Given the description of an element on the screen output the (x, y) to click on. 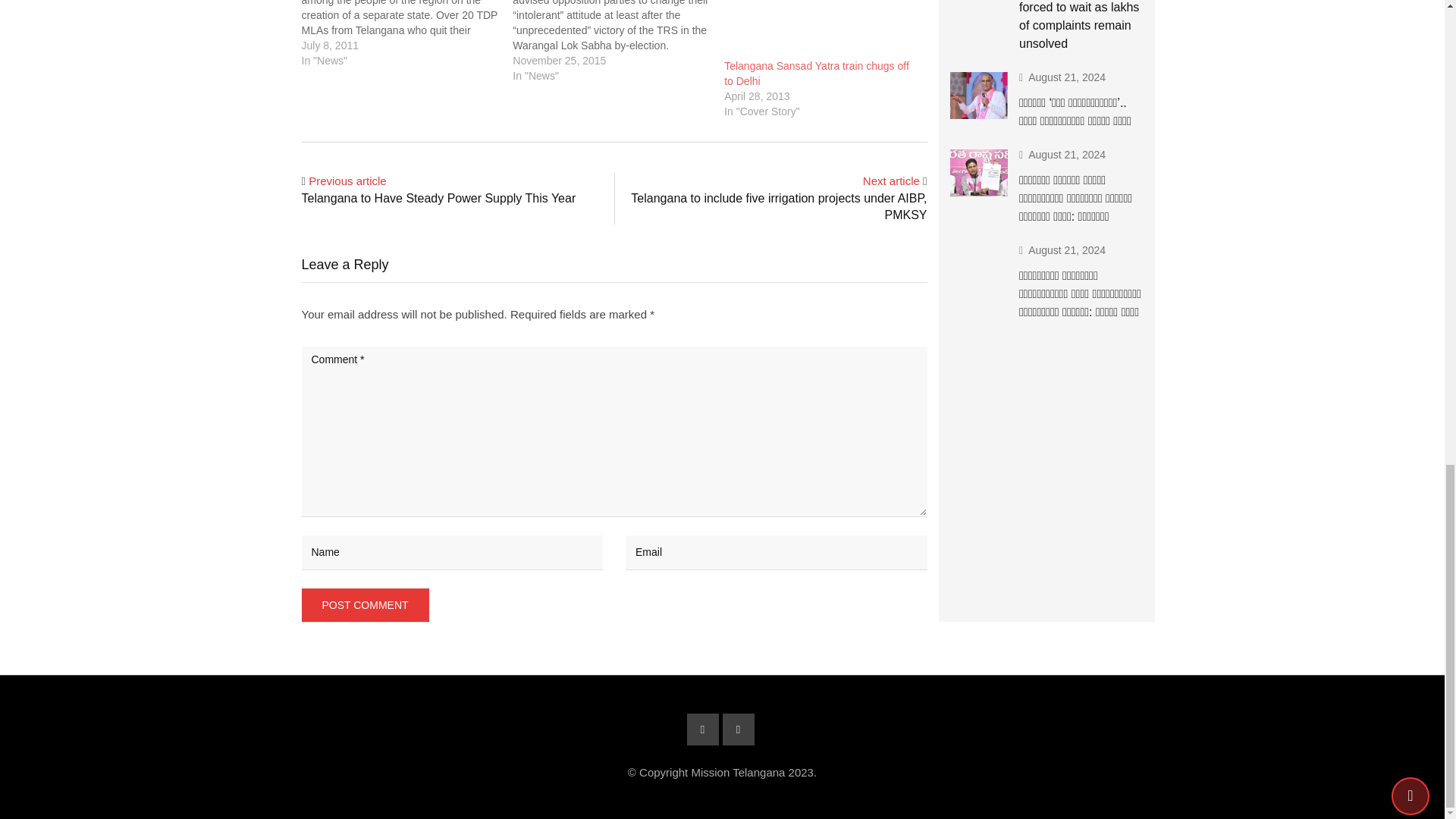
Telugu Desam Leaders Begin Bus Yatra (407, 33)
Telangana Sansad Yatra train chugs off to Delhi (821, 29)
Post Comment (365, 604)
Telangana Sansad Yatra train chugs off to Delhi (815, 72)
